Given the description of an element on the screen output the (x, y) to click on. 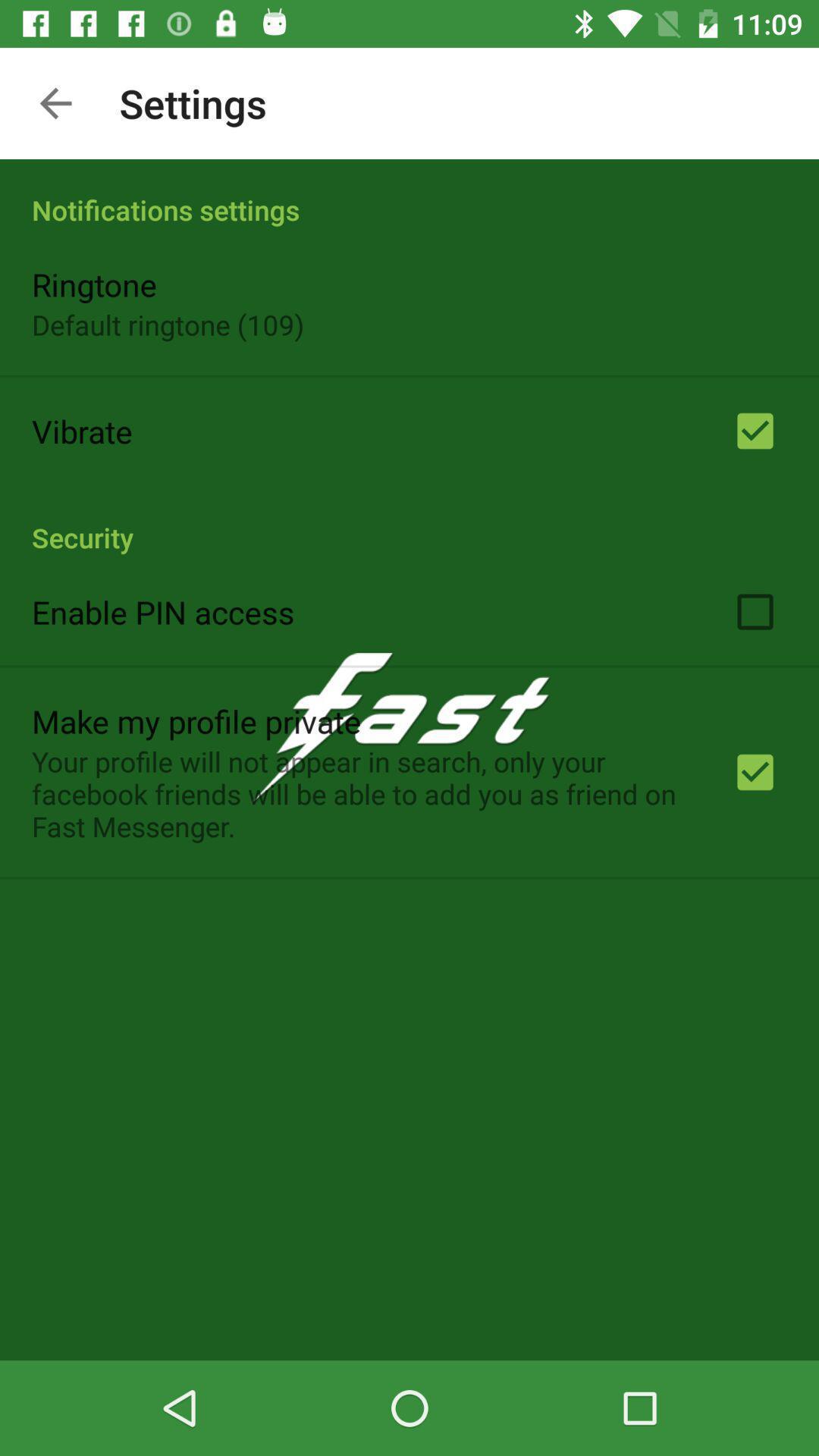
choose app above the your profile will item (196, 720)
